Given the description of an element on the screen output the (x, y) to click on. 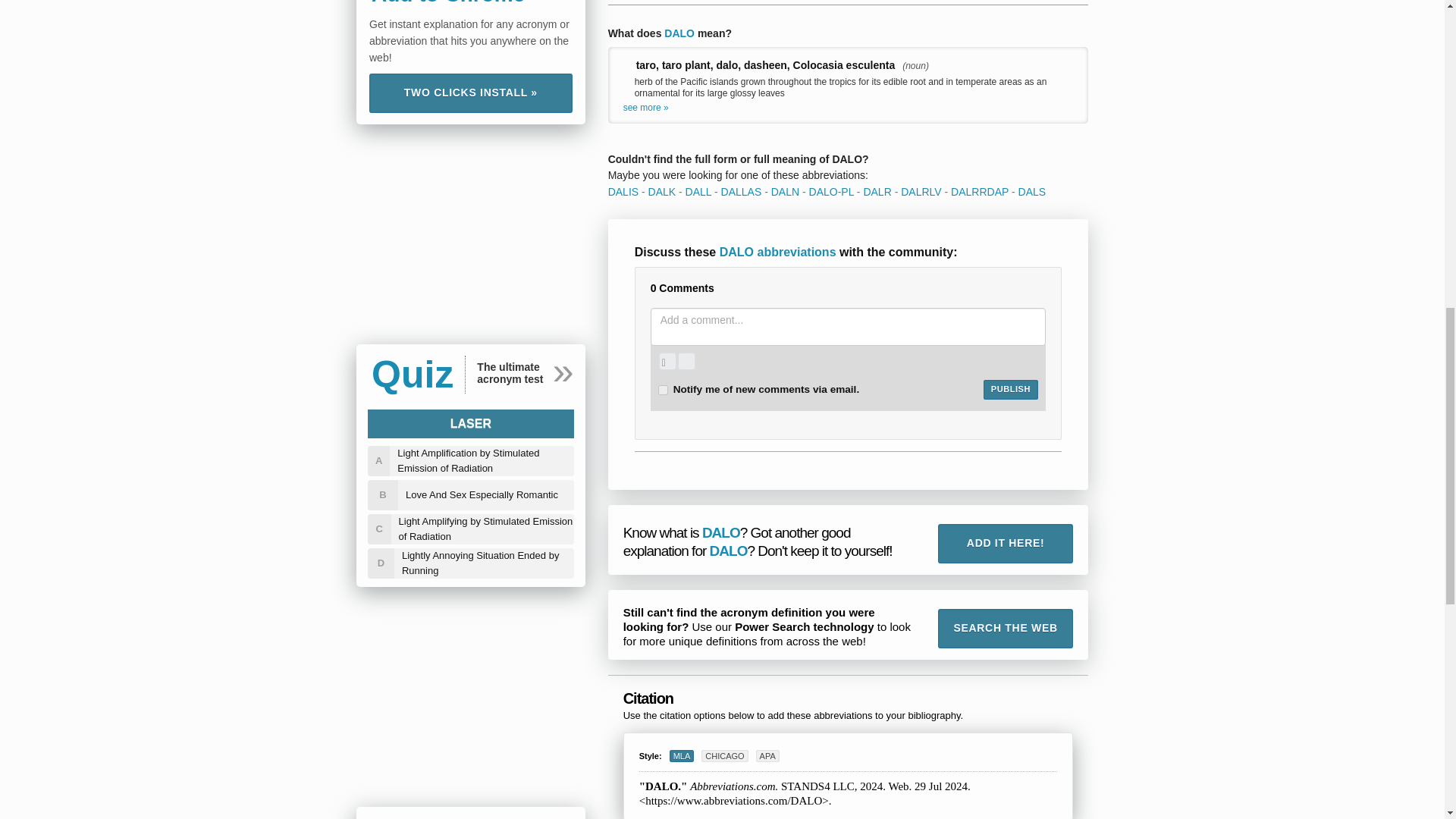
Upload an image (667, 361)
on (663, 389)
Record a sound (686, 361)
